Given the description of an element on the screen output the (x, y) to click on. 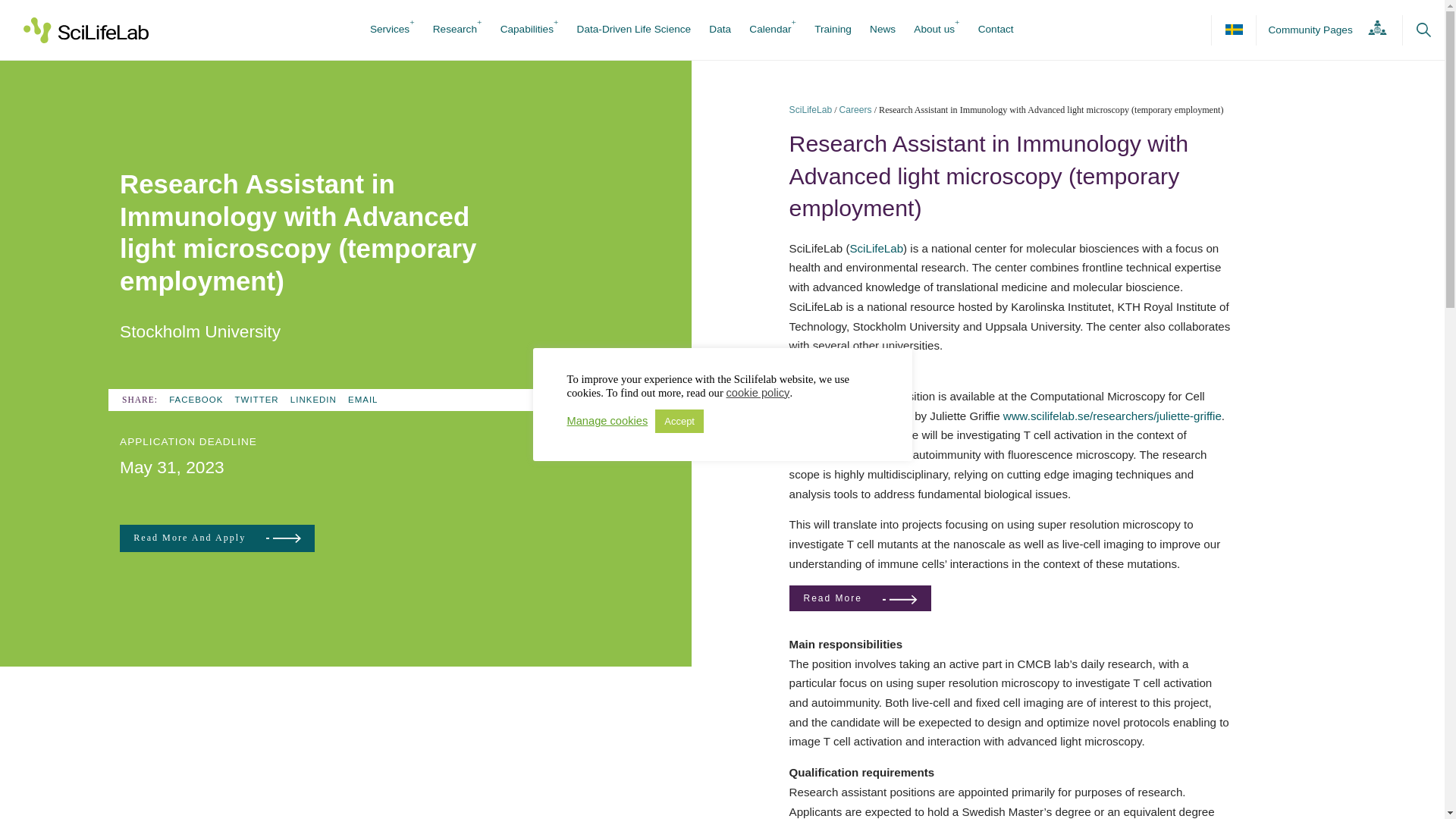
Contact (995, 29)
Stockholm University (200, 331)
Data-Driven Life Science (633, 29)
Community pages (1323, 30)
Capabilities (526, 29)
Research (454, 29)
LINKEDIN (312, 399)
News (882, 29)
TWITTER (256, 399)
Data (719, 29)
